Given the description of an element on the screen output the (x, y) to click on. 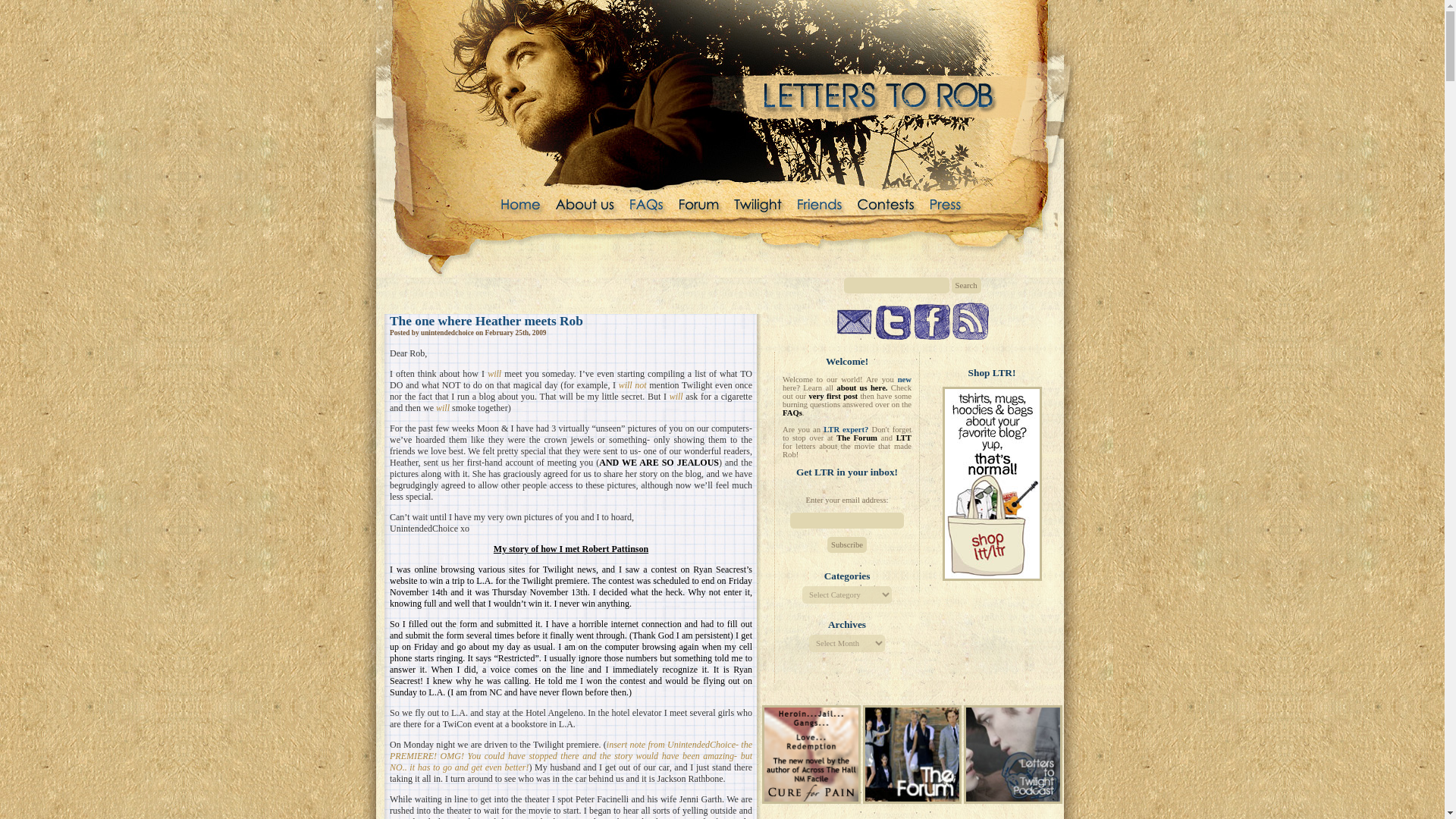
Subscribe (846, 544)
Cure for Pain (810, 754)
Facebook. Let's DO this! (930, 321)
We love to Tweet! (893, 322)
LTT Forum (911, 800)
Subscribe to our posts! (970, 320)
LTT Podcast (1012, 754)
Search (964, 285)
